Given the description of an element on the screen output the (x, y) to click on. 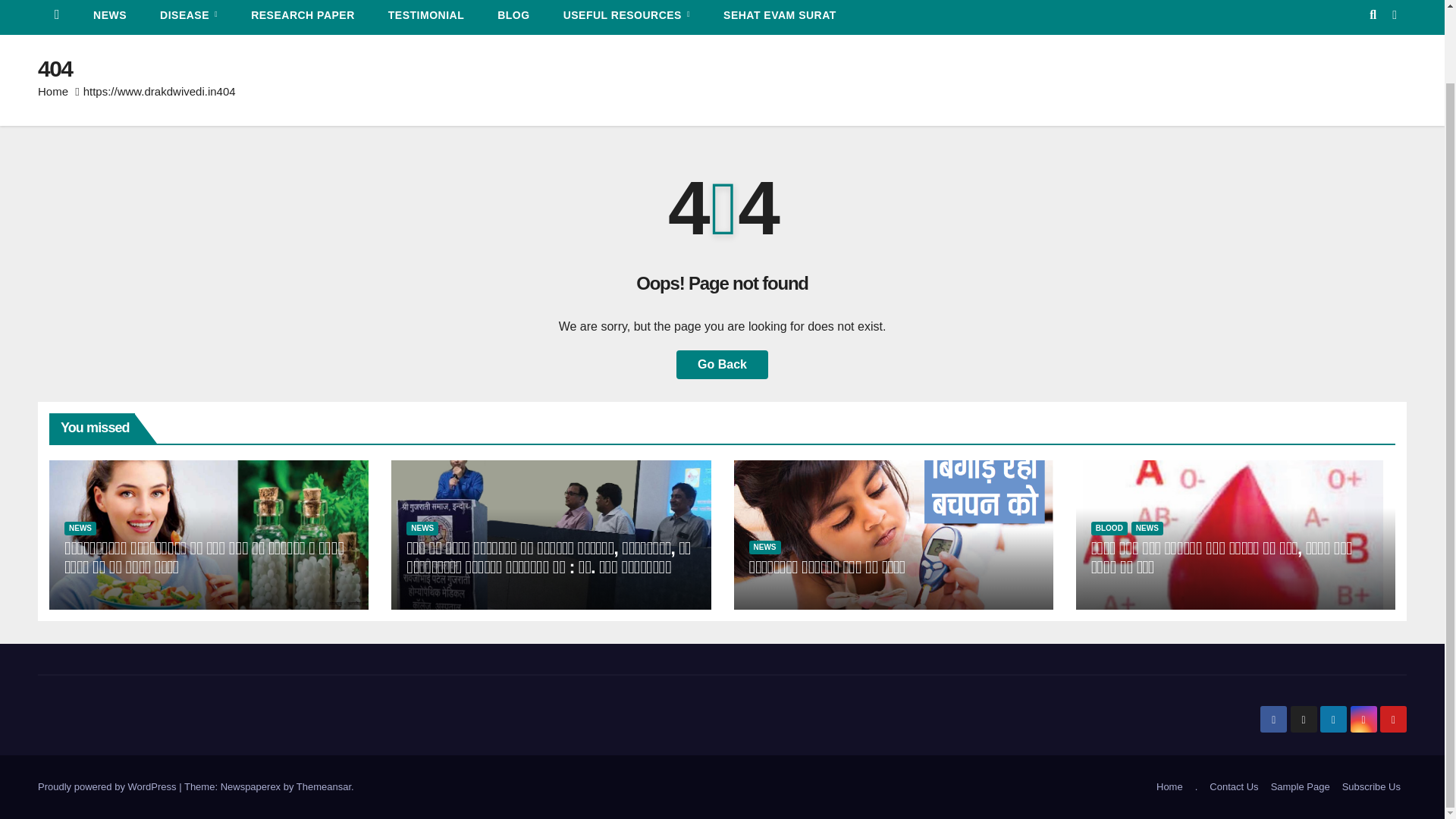
Disease (188, 17)
DISEASE (188, 17)
News (109, 17)
NEWS (109, 17)
